Given the description of an element on the screen output the (x, y) to click on. 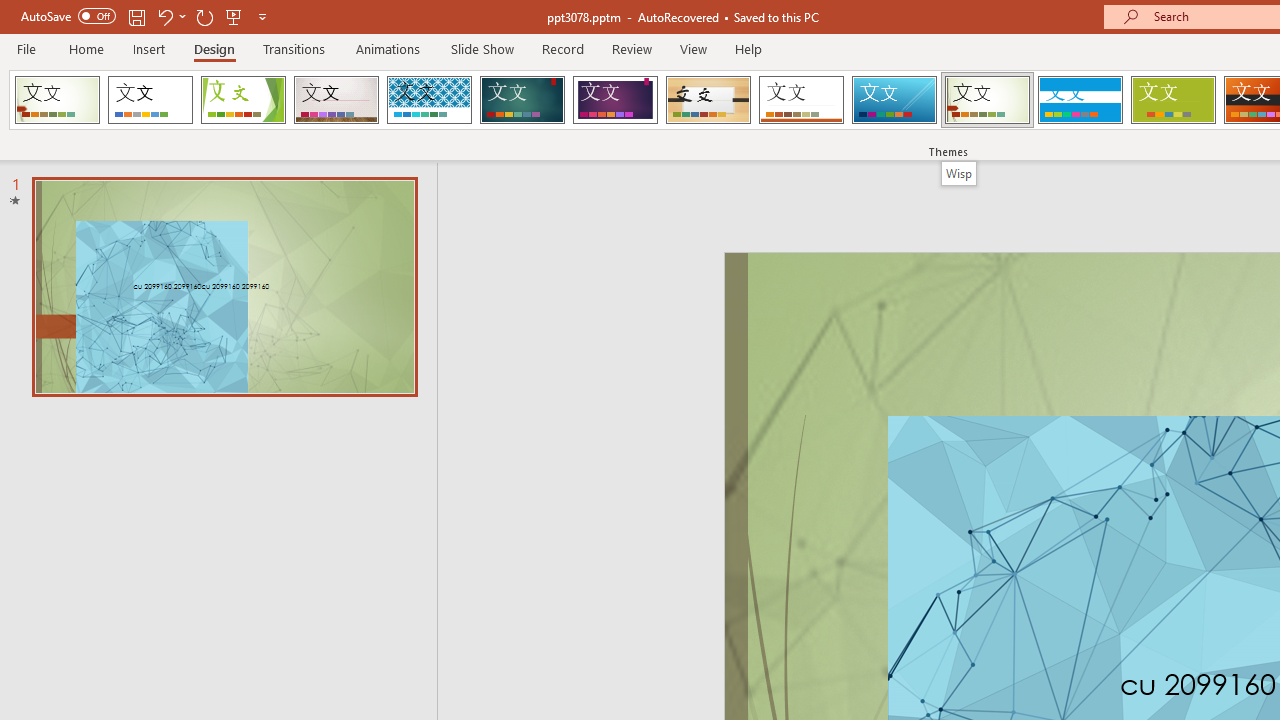
Wisp (958, 173)
Banded Loading Preview... (1080, 100)
Facet (243, 100)
From Beginning (234, 15)
View (693, 48)
File Tab (26, 48)
Organic Loading Preview... (708, 100)
Slide (224, 286)
AutoSave (68, 16)
Office Theme (150, 100)
Ion Loading Preview... (522, 100)
